Given the description of an element on the screen output the (x, y) to click on. 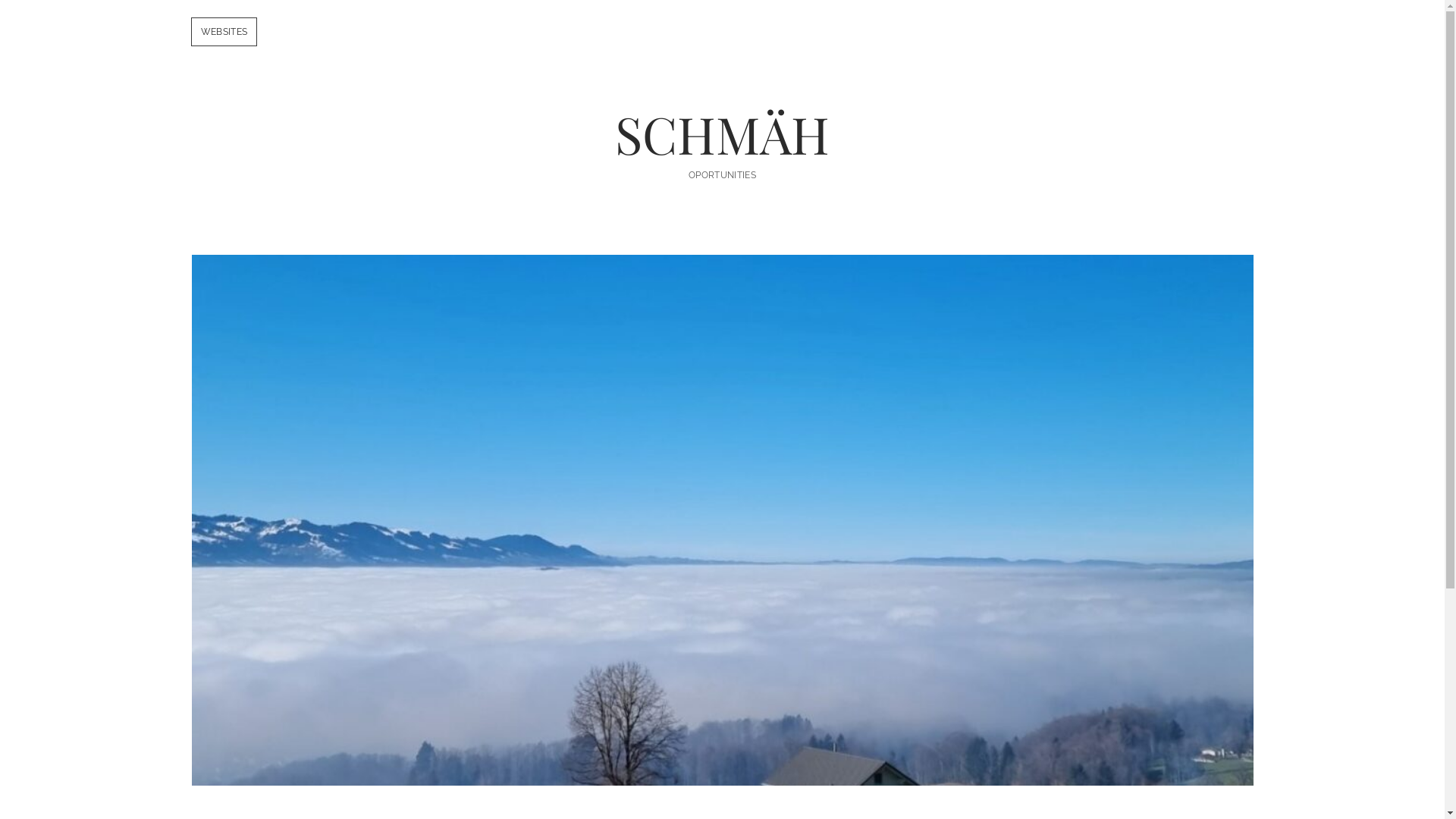
WEBSITES Element type: text (223, 31)
